Given the description of an element on the screen output the (x, y) to click on. 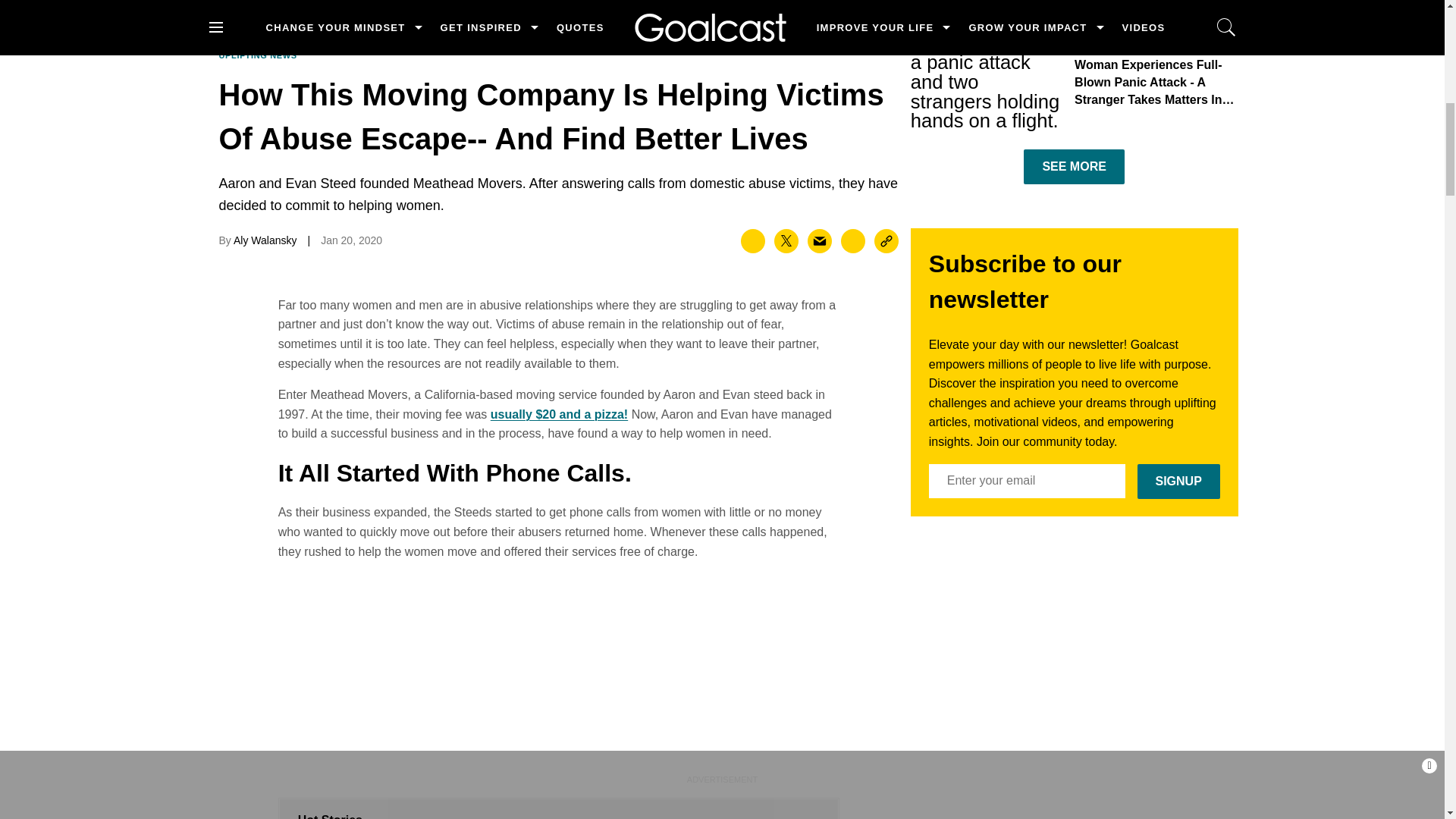
Copy this link to clipboard (886, 241)
